Given the description of an element on the screen output the (x, y) to click on. 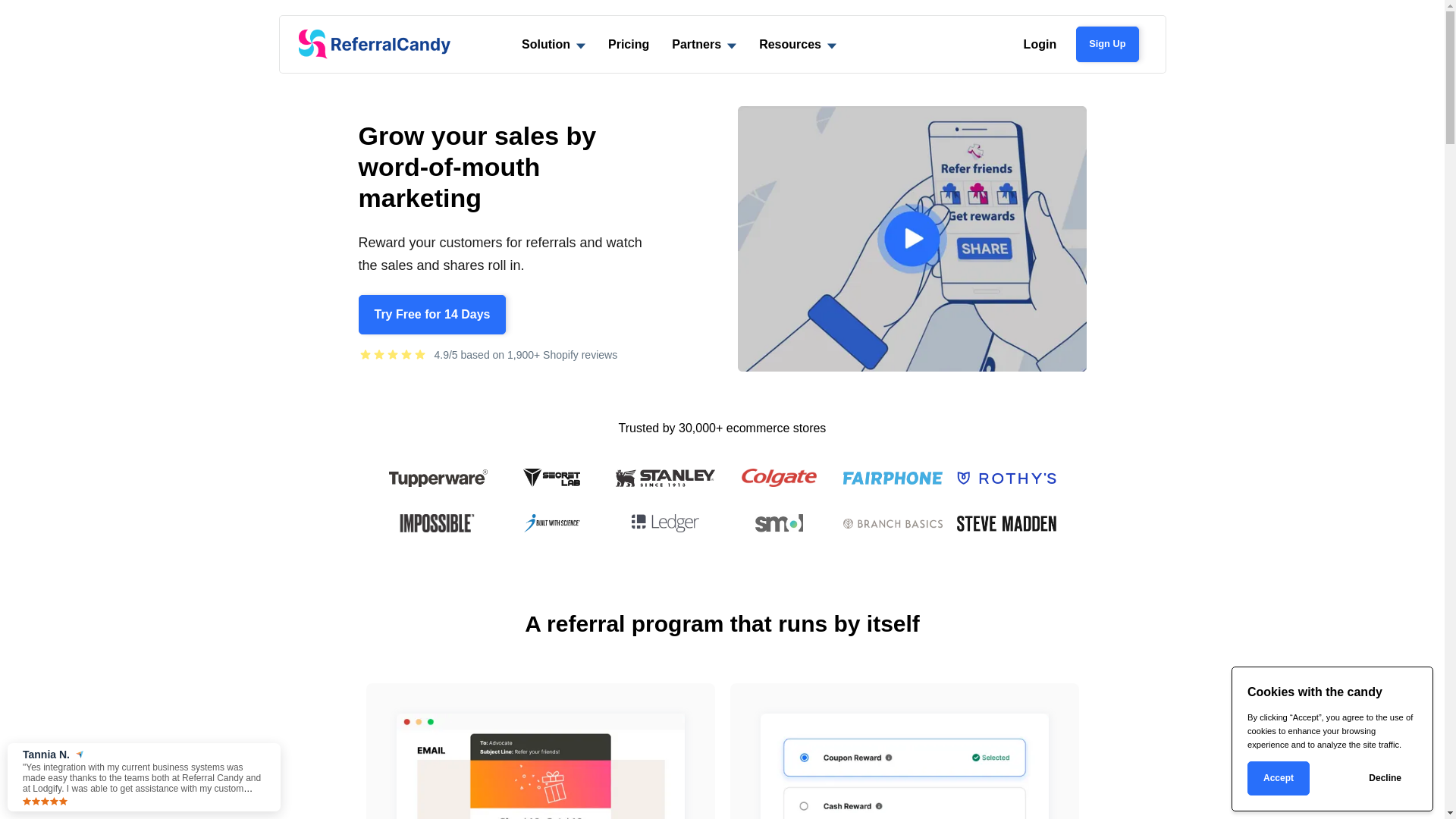
Pricing Element type: text (628, 43)
Accept Element type: text (1278, 778)
Sign Up Element type: text (1107, 43)
Decline Element type: text (1384, 778)
Try Free for 14 Days Element type: text (431, 314)
Login Element type: text (1040, 43)
